Given the description of an element on the screen output the (x, y) to click on. 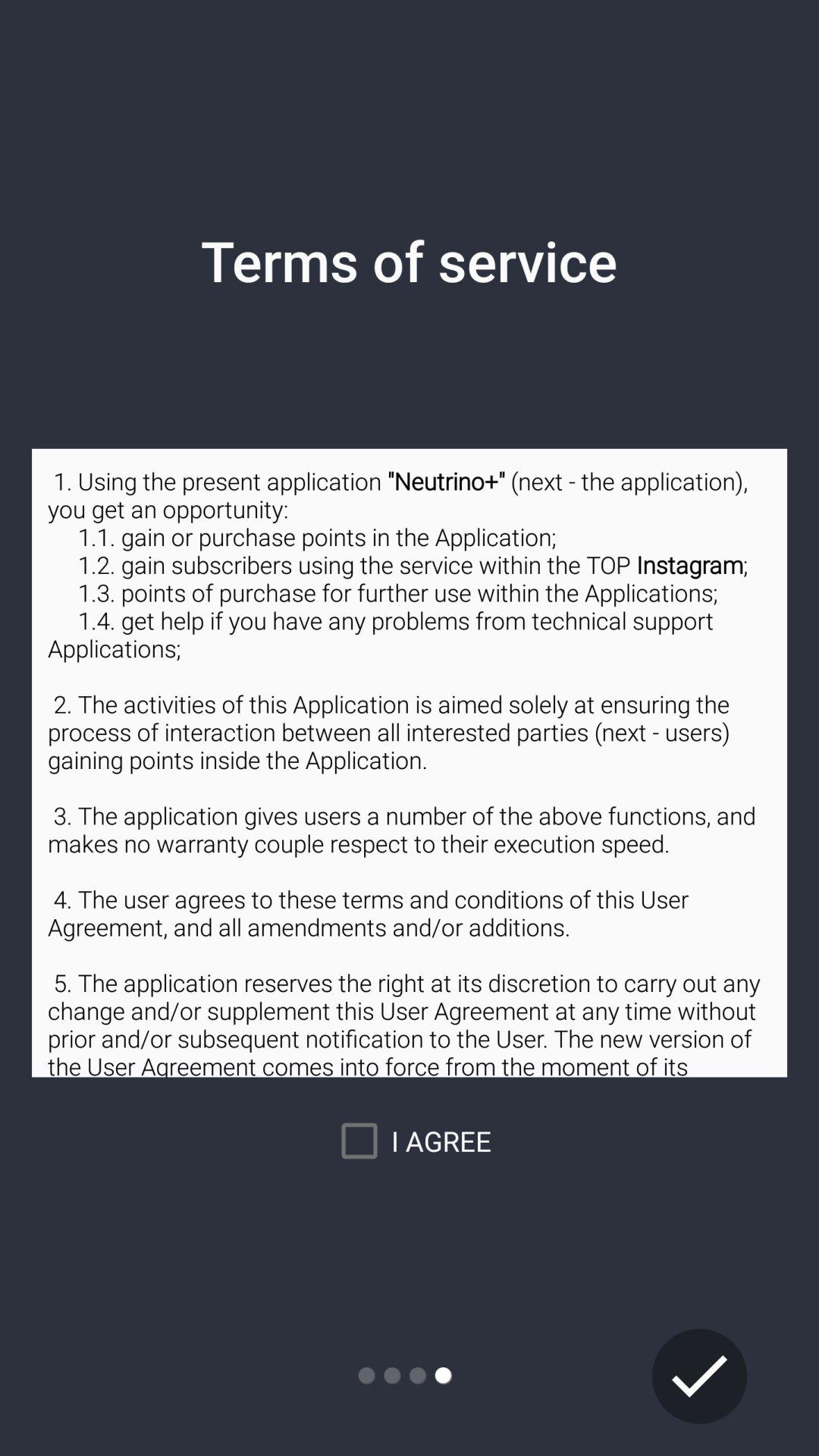
submit terms of service (699, 1376)
